Given the description of an element on the screen output the (x, y) to click on. 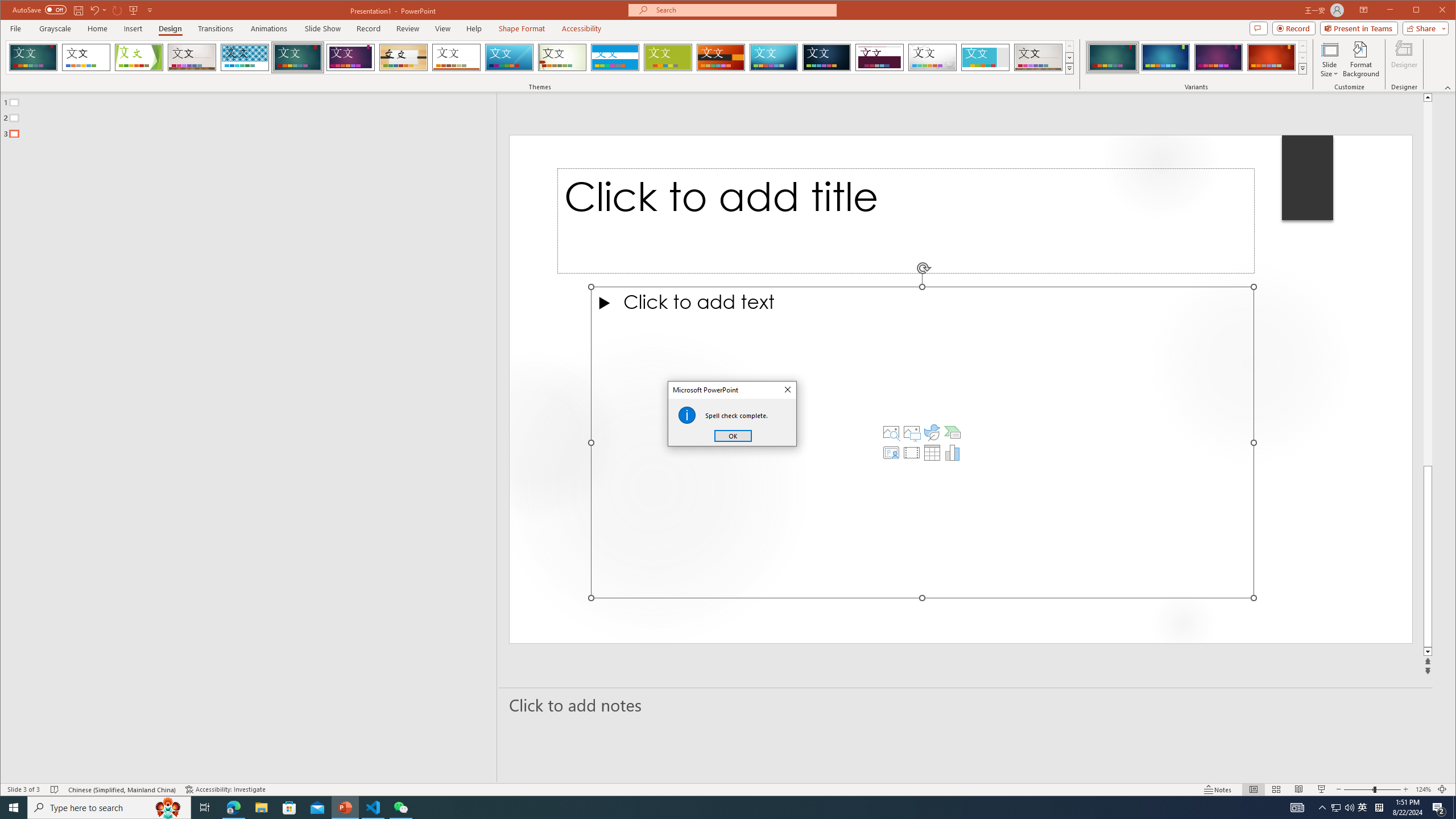
AutomationID: SlideThemesGallery (540, 57)
Class: Static (686, 415)
Berlin (720, 57)
Retrospect (456, 57)
